Given the description of an element on the screen output the (x, y) to click on. 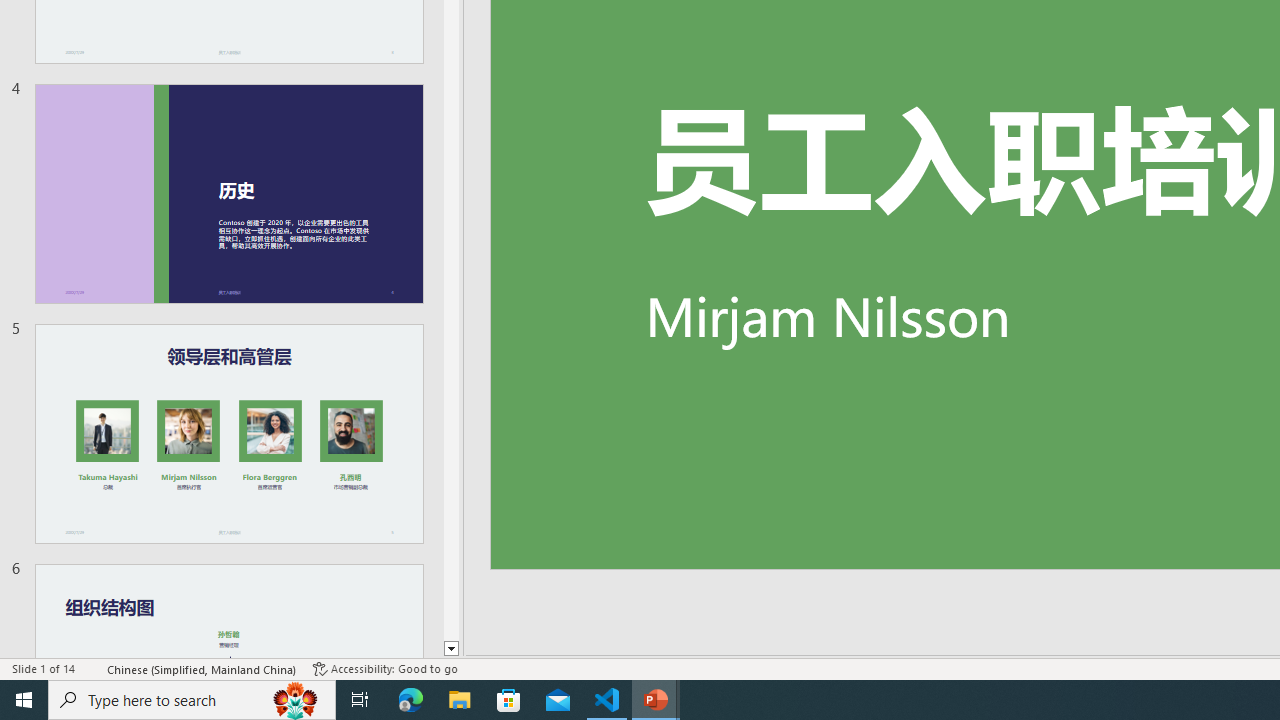
Spell Check  (92, 668)
Accessibility Checker Accessibility: Good to go (384, 668)
